Given the description of an element on the screen output the (x, y) to click on. 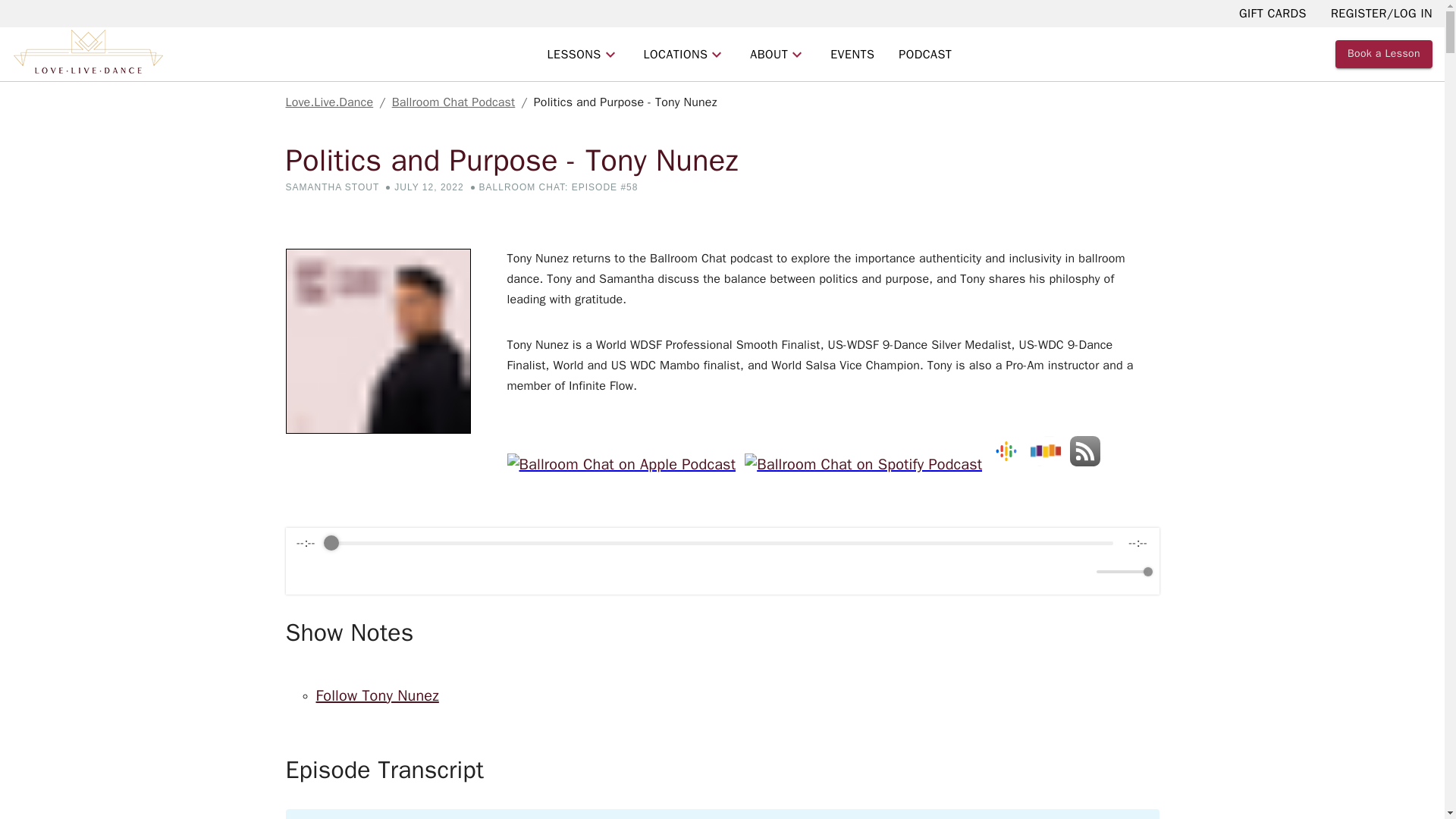
ABOUT (778, 54)
Stitcher Podcast (1050, 465)
Book a Lesson (1383, 53)
Spotify Podcast (867, 465)
GIFT CARDS (1273, 13)
Ballroom Chat Podcast (453, 102)
RSS Feed (1089, 465)
Apple Podcast (625, 465)
LESSONS (583, 54)
Google Podcast (1010, 465)
